Given the description of an element on the screen output the (x, y) to click on. 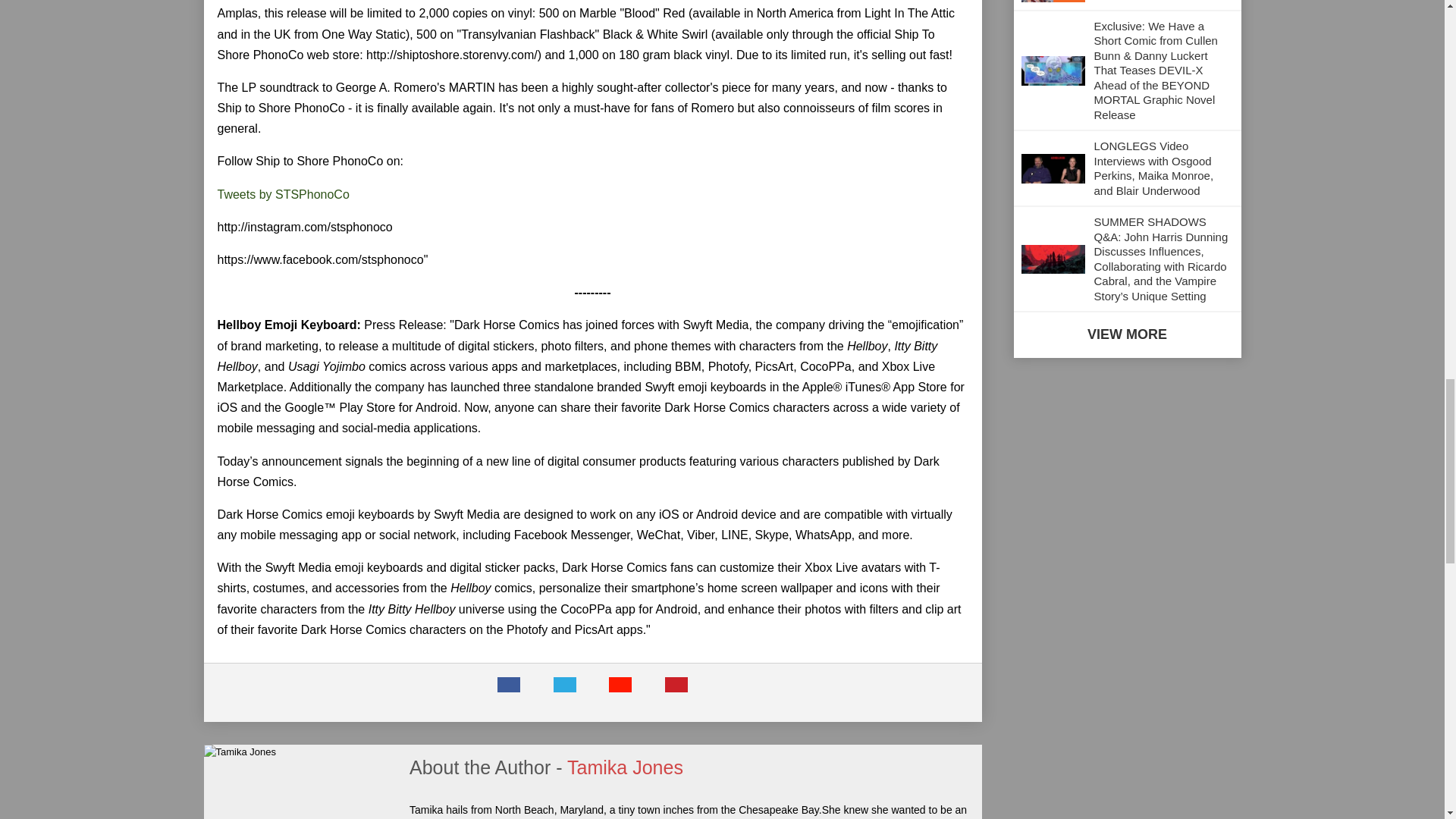
Tweets by STSPhonoCo (282, 194)
